Given the description of an element on the screen output the (x, y) to click on. 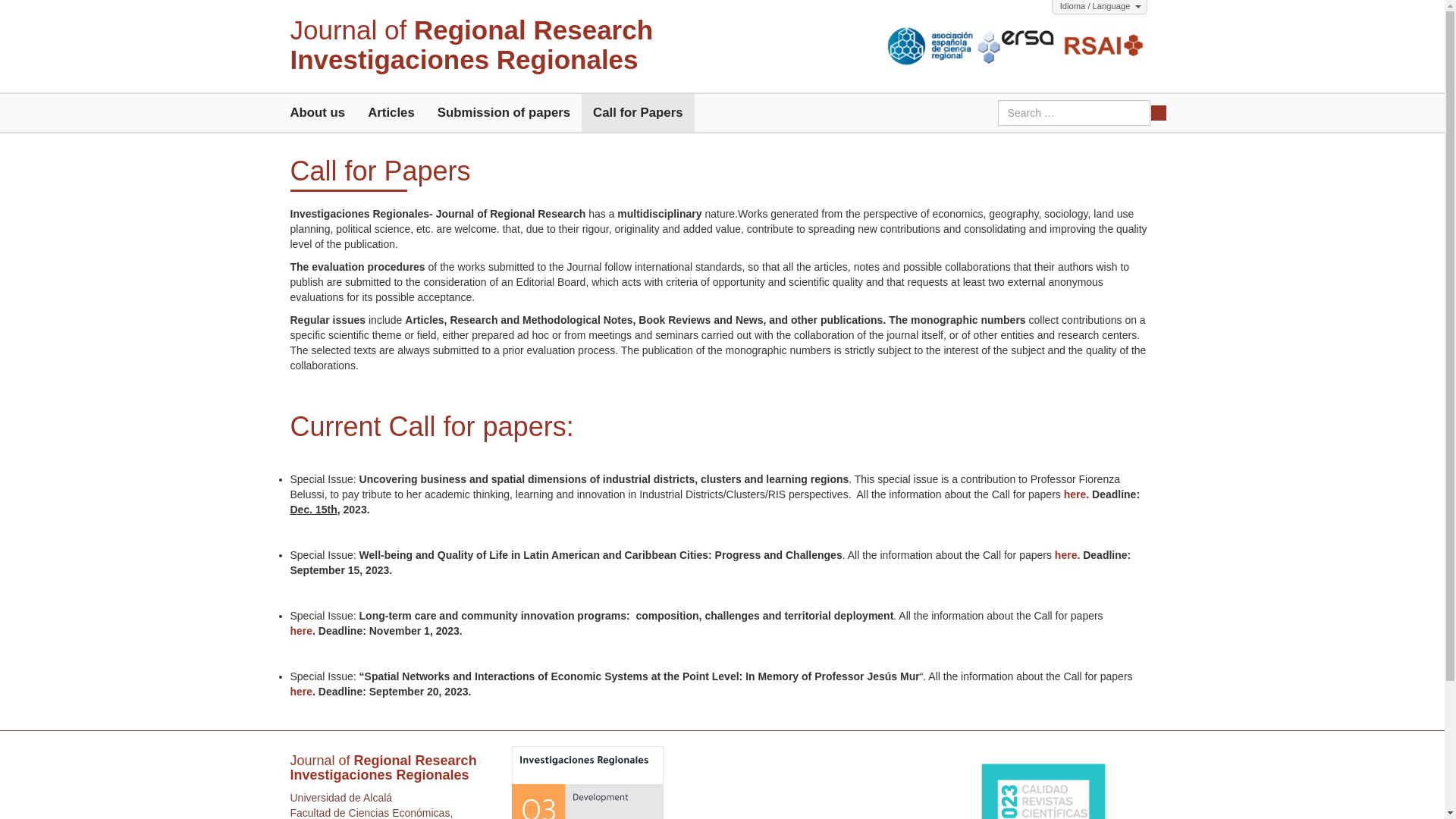
Submit (1158, 112)
here (301, 630)
About us (317, 112)
here (1075, 494)
Articles (391, 112)
Submission of papers (503, 112)
About us (470, 44)
Call for Papers (317, 112)
here. (637, 112)
Call for Papers (1067, 554)
here (637, 112)
Articles (301, 691)
Submission of papers (391, 112)
